Given the description of an element on the screen output the (x, y) to click on. 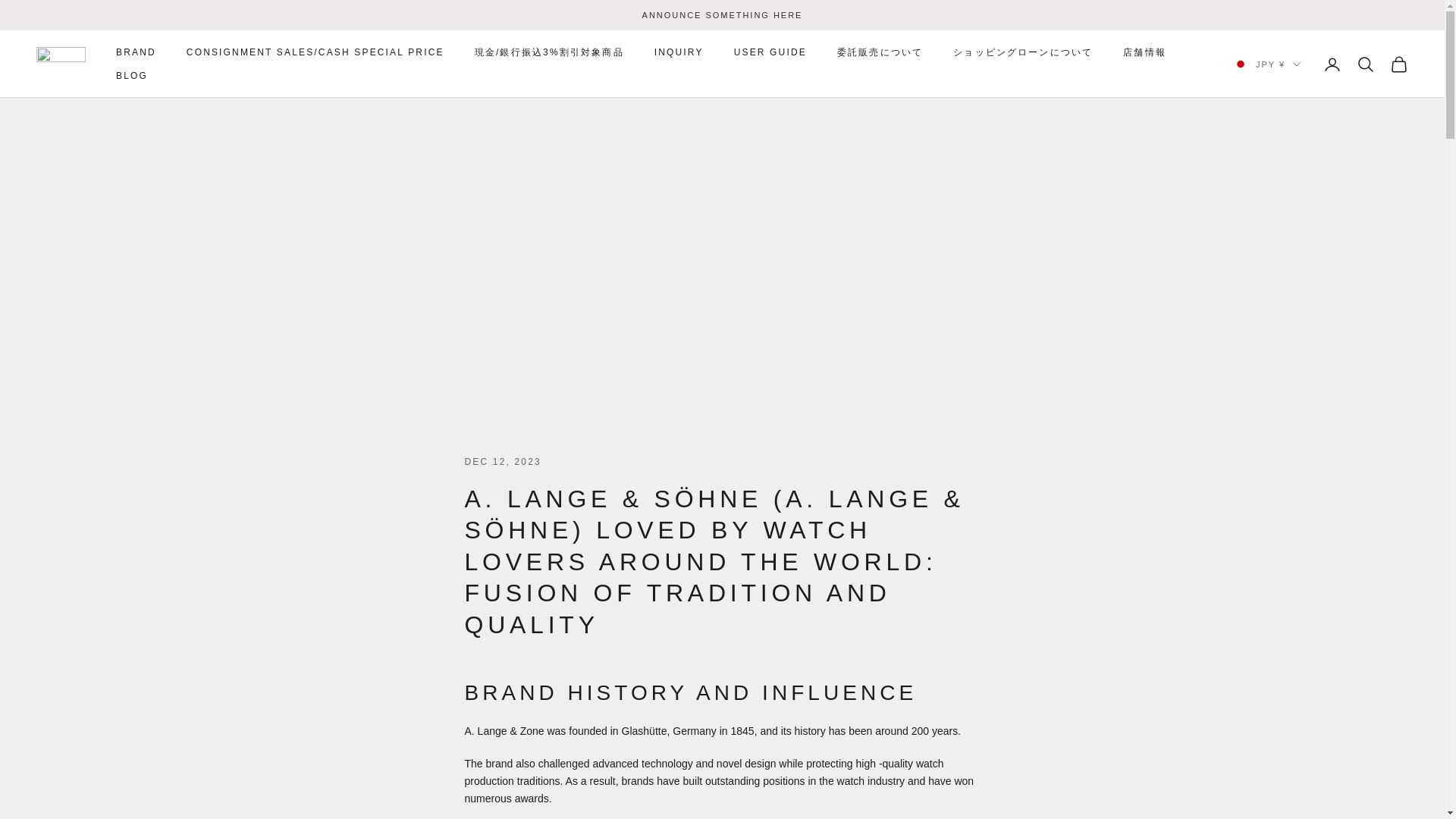
GINZA AXIS (60, 63)
BLOG (132, 75)
INQUIRY (678, 52)
USER GUIDE (769, 52)
